Given the description of an element on the screen output the (x, y) to click on. 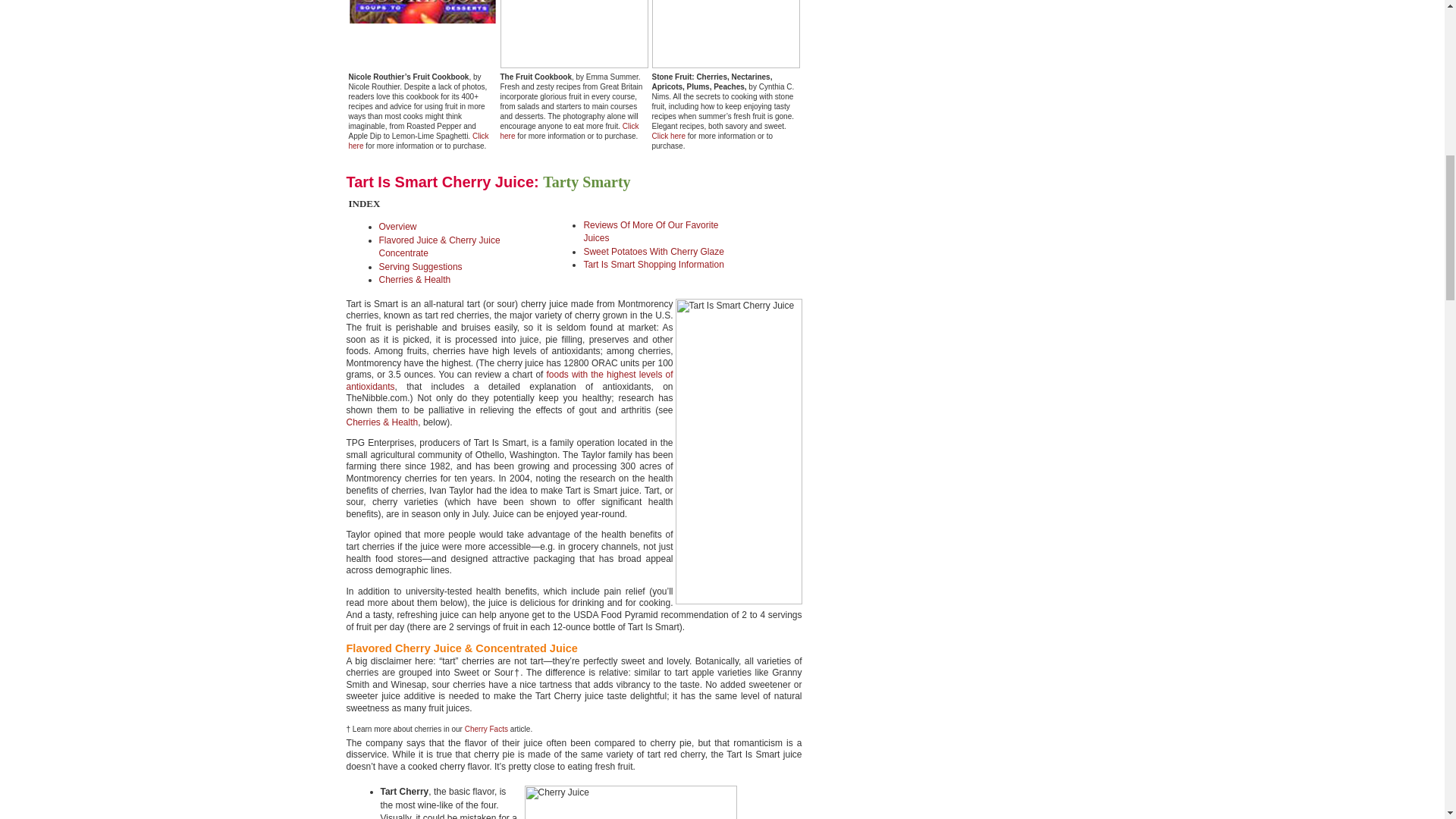
foods with the highest levels of antioxidants (509, 380)
Click here (668, 135)
Serving Suggestions (420, 266)
Click here (419, 140)
Tart Is Smart Shopping Information (653, 264)
Sweet Potatoes With Cherry Glaze (653, 251)
Overview (397, 226)
Click here (569, 131)
